Given the description of an element on the screen output the (x, y) to click on. 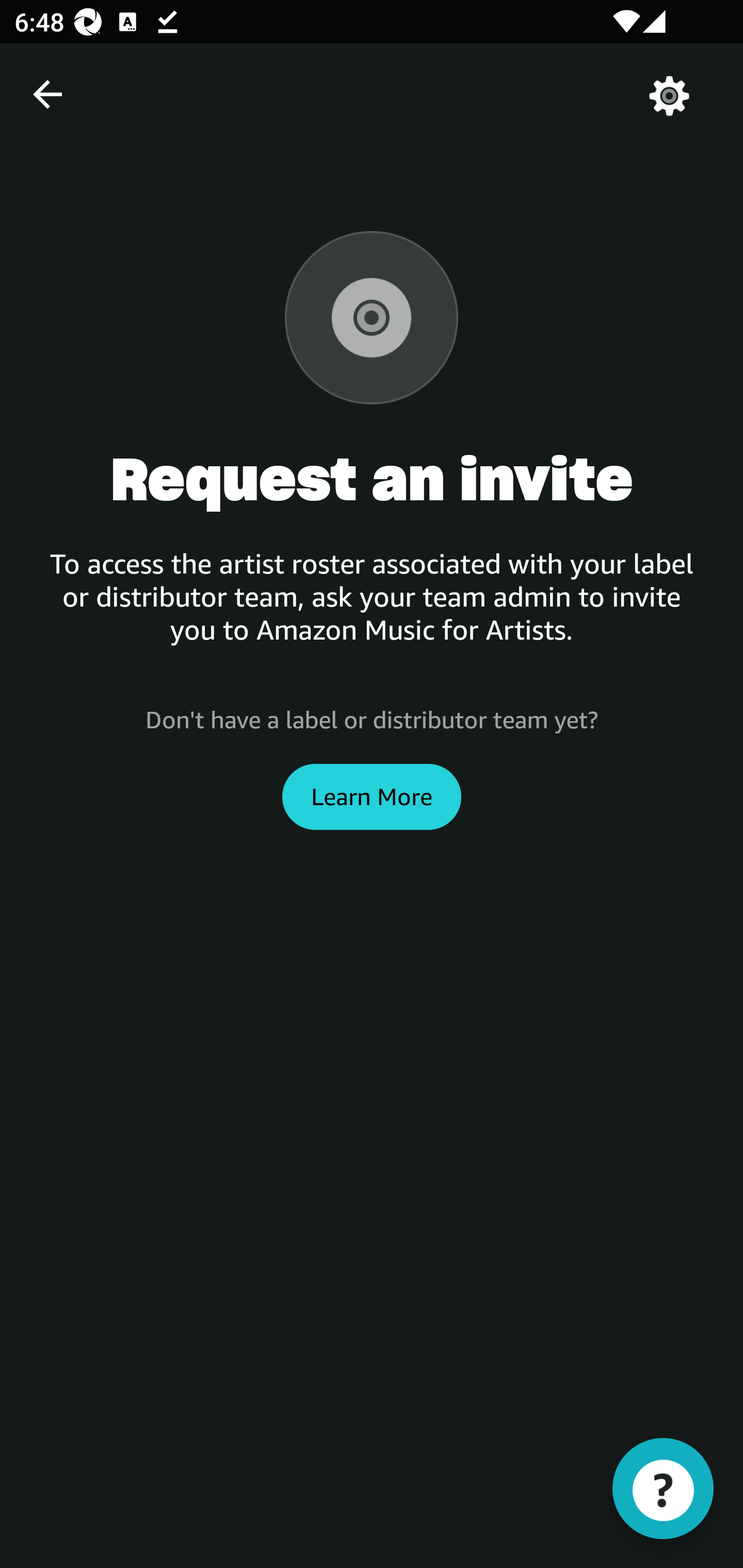
Learn more button Learn More (371, 796)
